Given the description of an element on the screen output the (x, y) to click on. 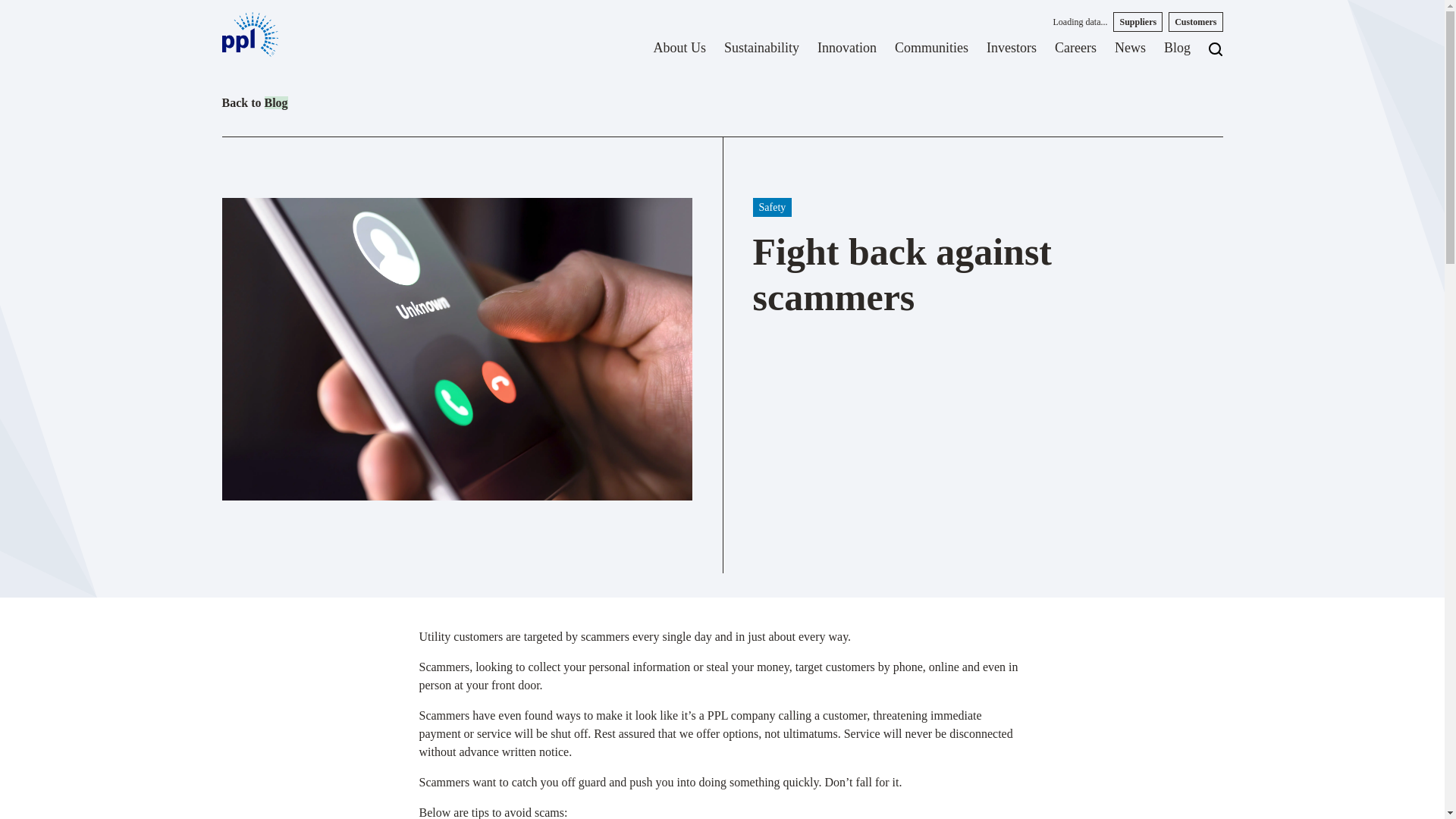
About Us (679, 53)
Suppliers (1137, 21)
Communities (931, 53)
PPL Logo (249, 34)
Sustainability (761, 53)
Innovation (846, 53)
Customers (1196, 21)
PPL Logo (249, 34)
